Given the description of an element on the screen output the (x, y) to click on. 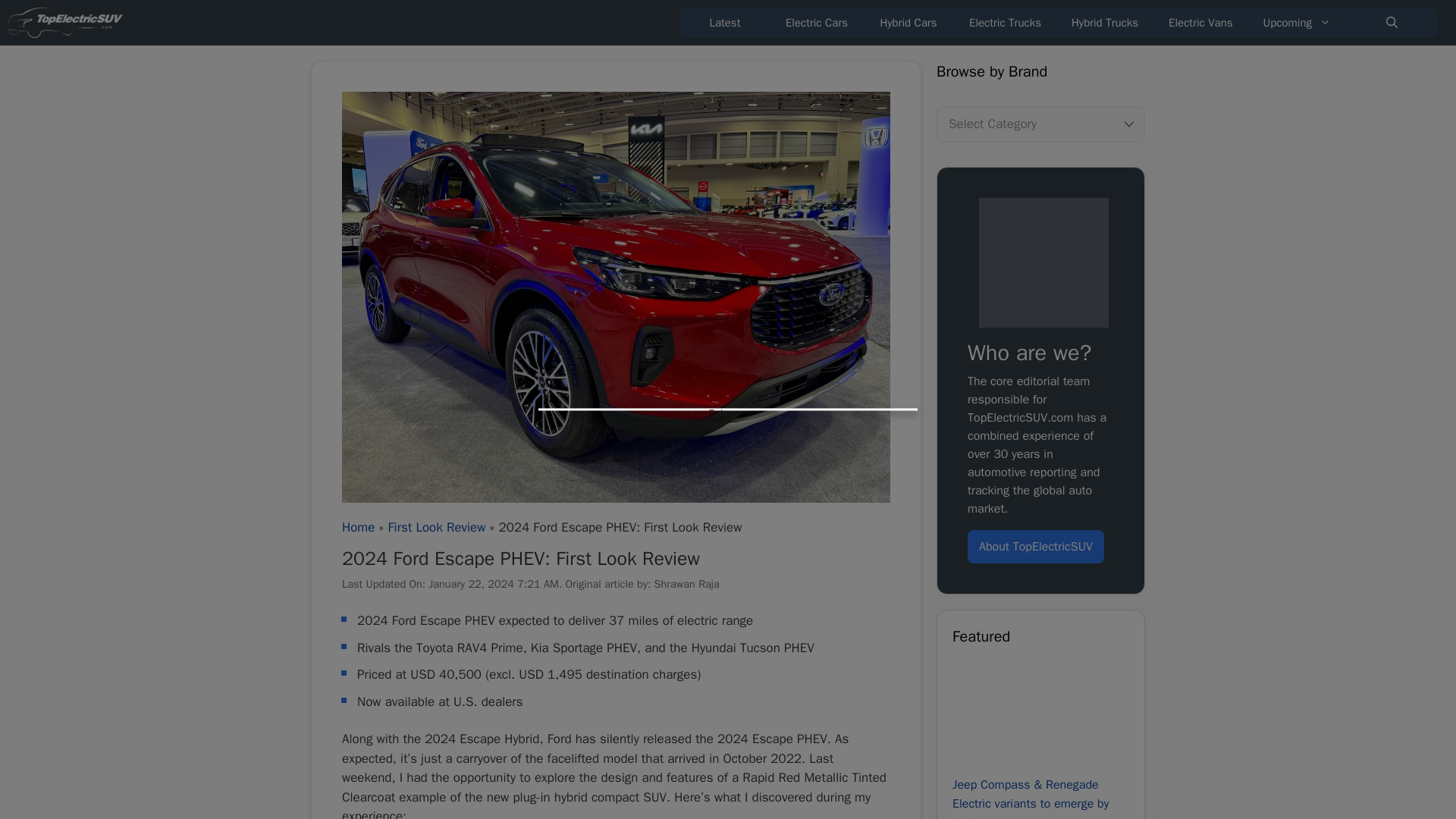
Hybrid Trucks (1105, 22)
TopElectricSuv (1043, 261)
Electric Trucks (1005, 22)
TopElectricSUV (64, 22)
Upcoming (1296, 22)
TopElectricSUV (69, 22)
Electric Cars (816, 22)
Electric Vans (1200, 22)
Hybrid Cars (908, 22)
View all posts by Shrawan Raja (686, 583)
